Given the description of an element on the screen output the (x, y) to click on. 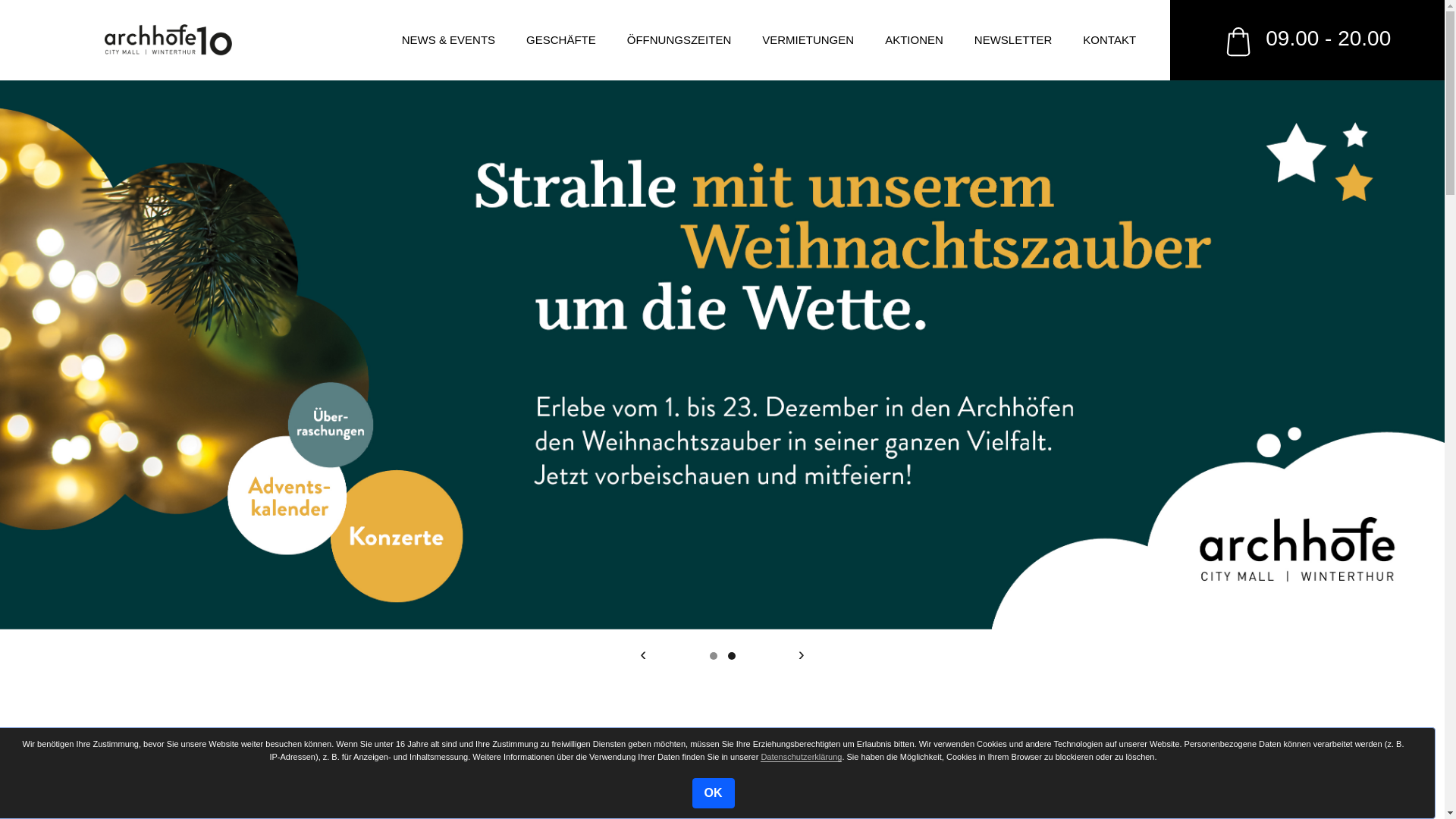
09.00 - 20.00 Element type: text (1307, 40)
KONTAKT Element type: text (1109, 40)
NEWSLETTER Element type: text (1013, 40)
VERMIETUNGEN Element type: text (807, 40)
OK Element type: text (712, 793)
NEWS & EVENTS Element type: text (448, 40)
AKTIONEN Element type: text (913, 40)
